Given the description of an element on the screen output the (x, y) to click on. 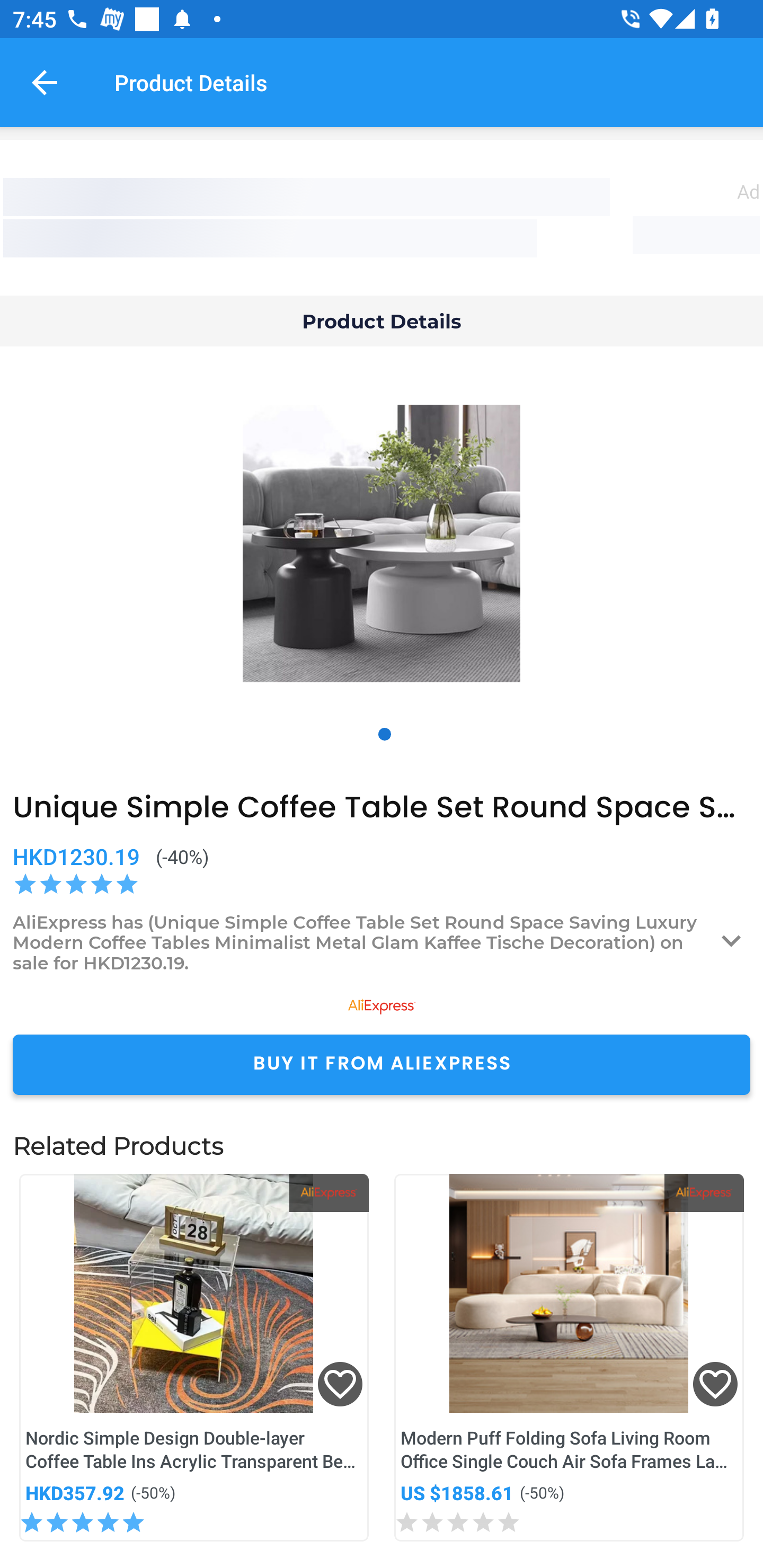
Navigate up (44, 82)
BUY IT FROM ALIEXPRESS (381, 1064)
